Given the description of an element on the screen output the (x, y) to click on. 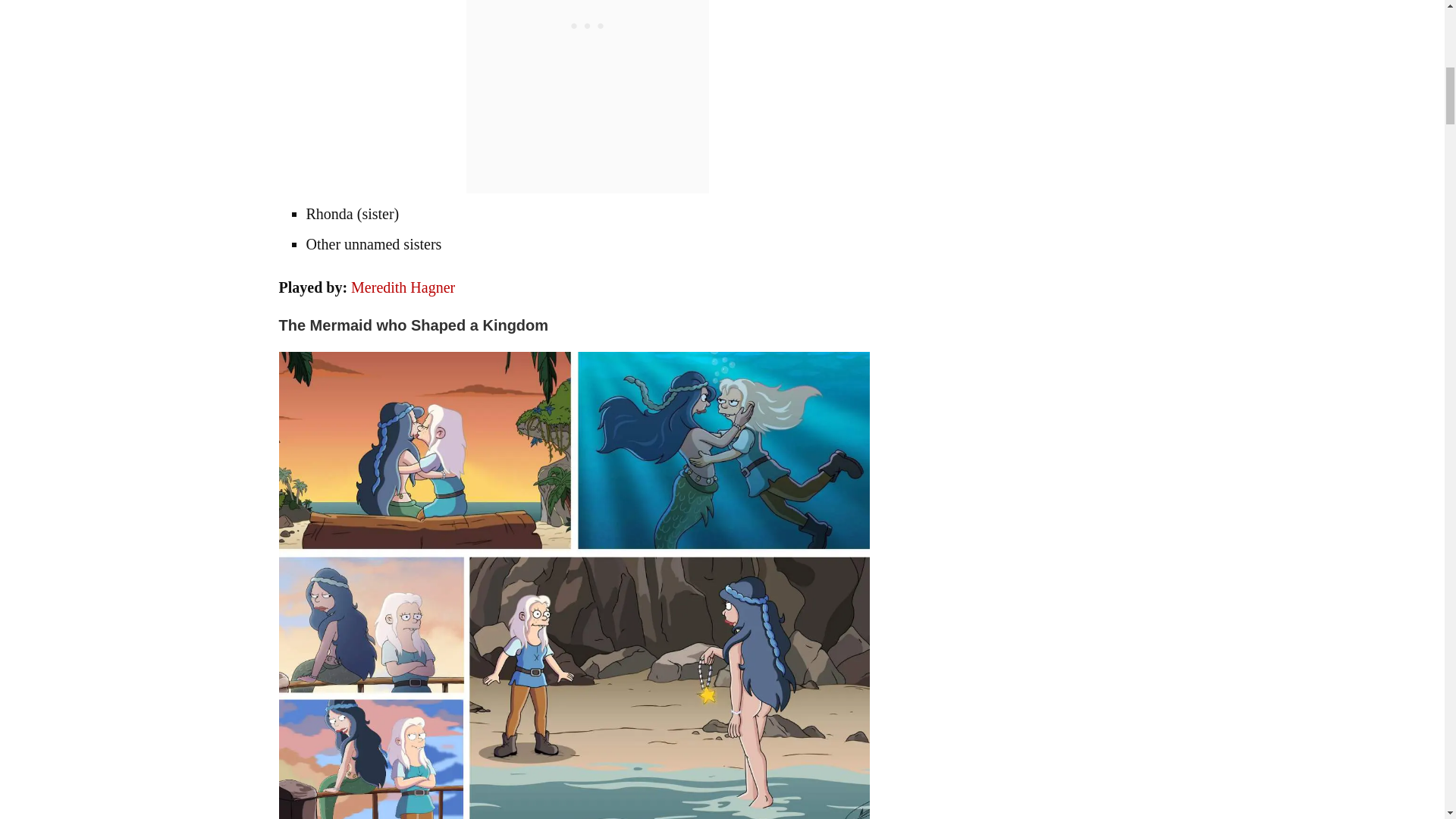
Meredith Hagner (402, 287)
